Given the description of an element on the screen output the (x, y) to click on. 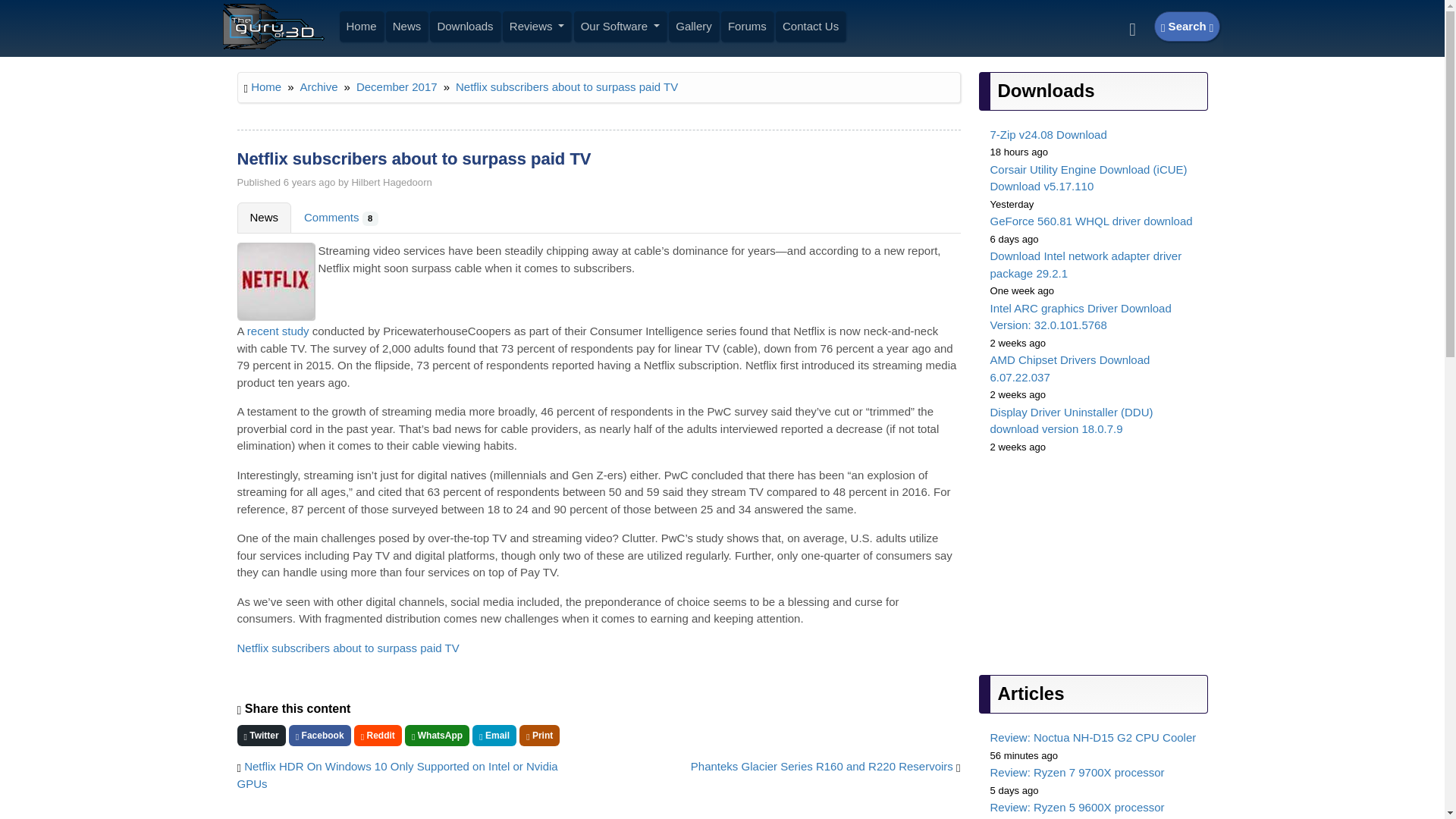
Netflix subscribers about to surpass paid TV (346, 647)
recent study (277, 330)
Downloads (464, 26)
Twitter (260, 735)
News (263, 217)
Our Software (620, 26)
News (407, 26)
Netflix subscribers about to surpass paid TV (566, 86)
Reddit (377, 735)
Archive (318, 86)
